Given the description of an element on the screen output the (x, y) to click on. 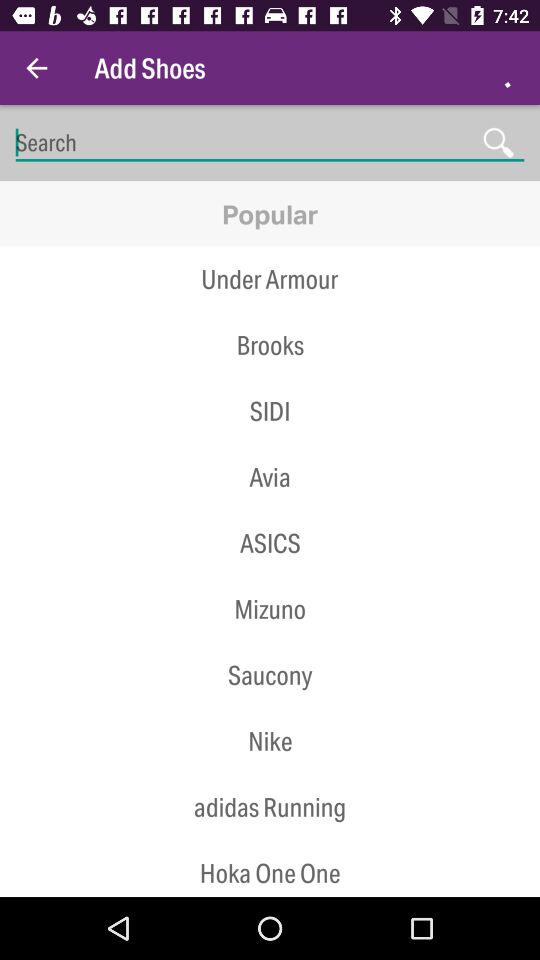
select icon below the asics item (270, 576)
